Given the description of an element on the screen output the (x, y) to click on. 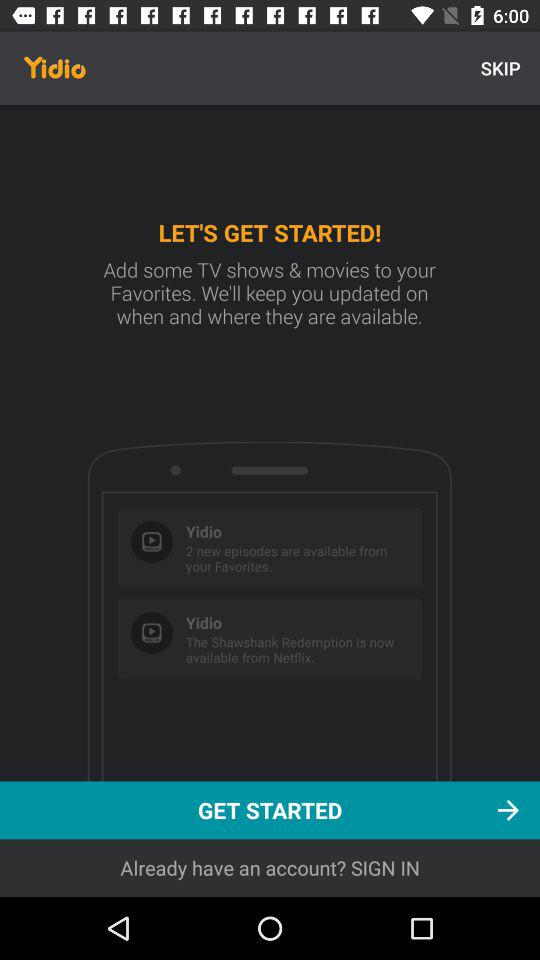
scroll to the already have an item (270, 867)
